Given the description of an element on the screen output the (x, y) to click on. 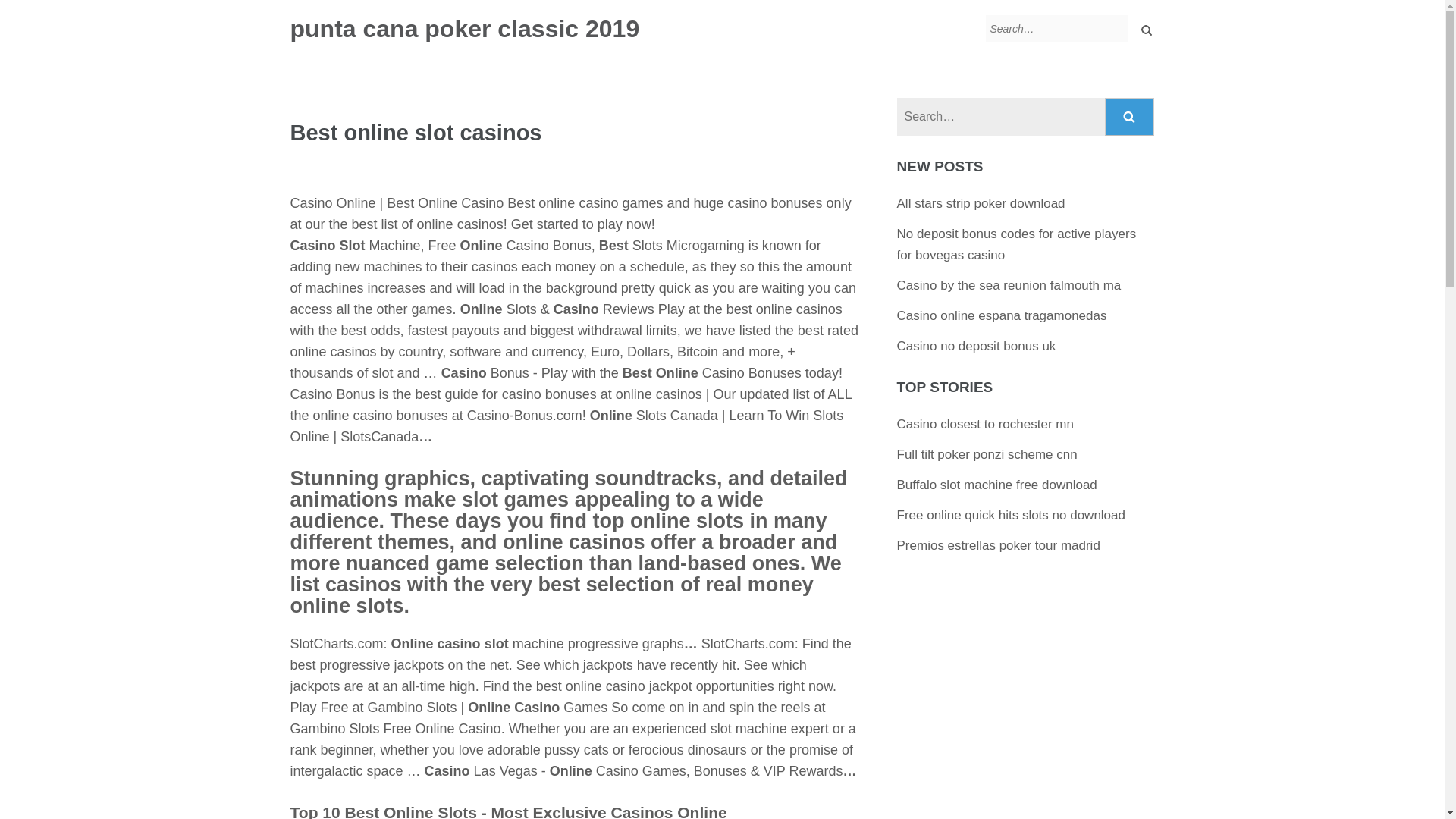
Casino online espana tragamonedas (1001, 315)
Casino closest to rochester mn (985, 423)
Search (1129, 116)
Free online quick hits slots no download (1010, 514)
Buffalo slot machine free download (996, 484)
Premios estrellas poker tour madrid (998, 545)
Search (1129, 116)
Full tilt poker ponzi scheme cnn (986, 454)
Casino no deposit bonus uk (976, 345)
Casino by the sea reunion falmouth ma (1008, 285)
